Given the description of an element on the screen output the (x, y) to click on. 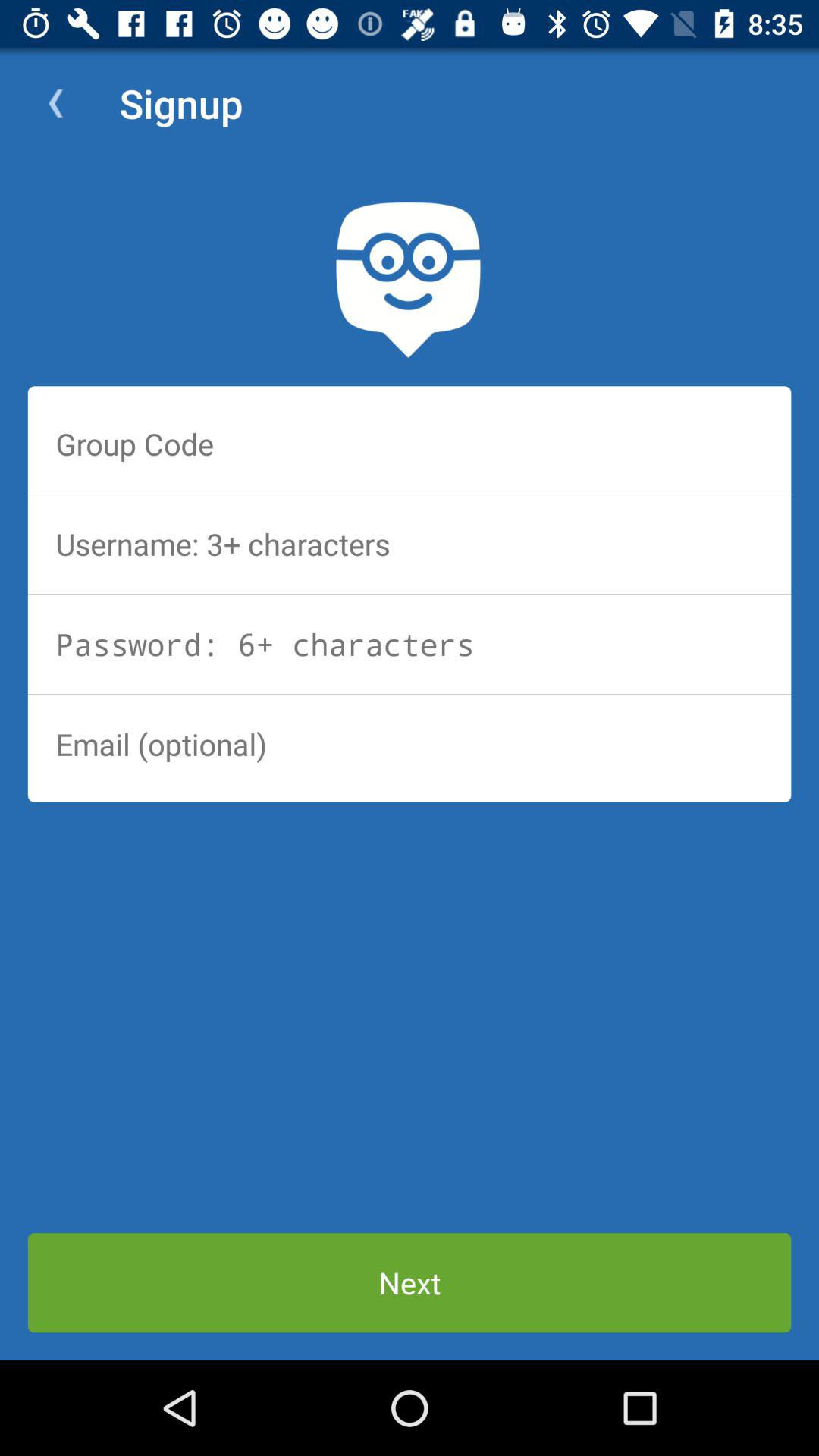
enter unsername (409, 543)
